Given the description of an element on the screen output the (x, y) to click on. 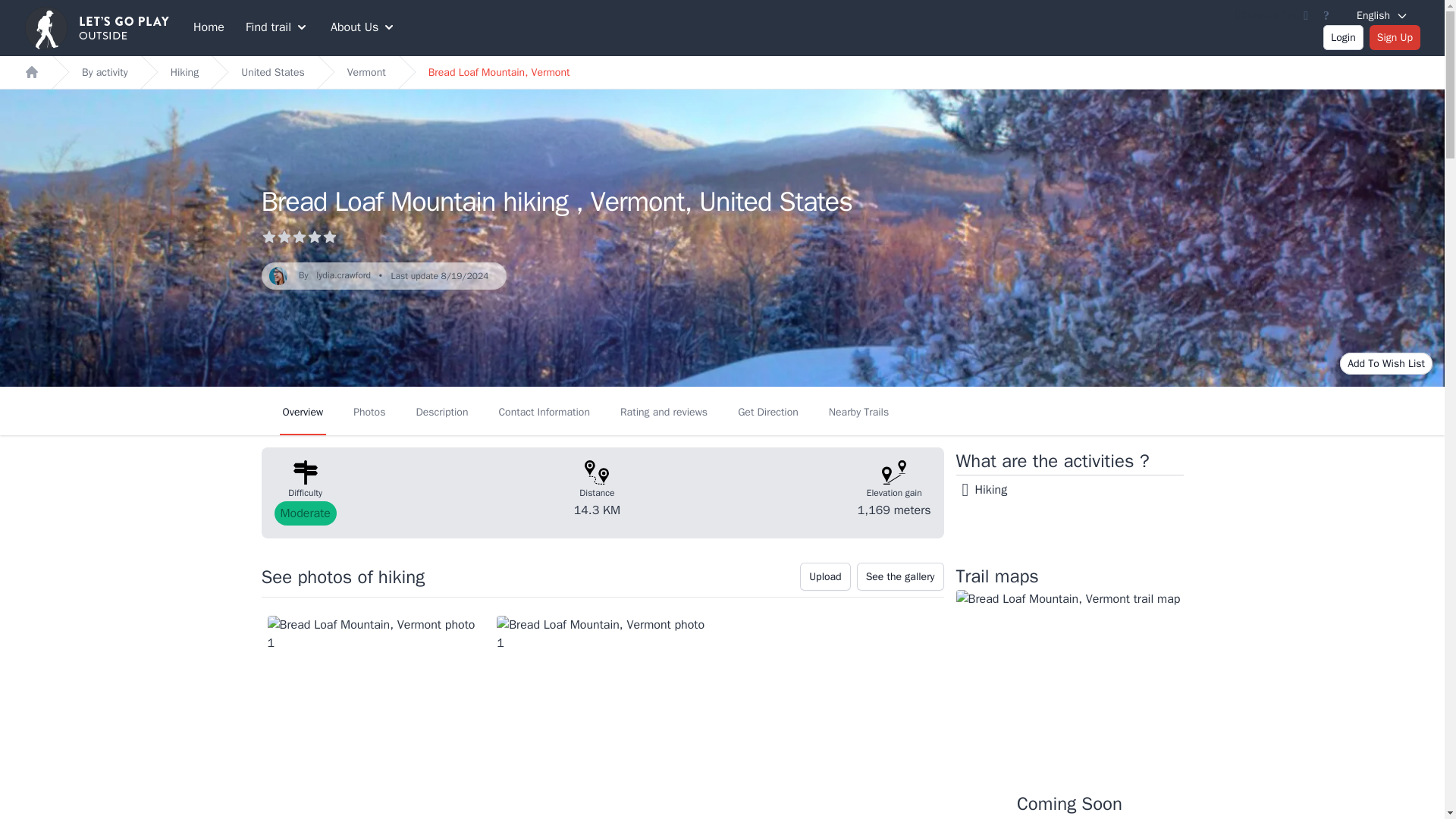
Hiking (184, 71)
lydia.crawford (343, 275)
Guided Tour (1268, 14)
Rating and reviews (663, 410)
Find trail (277, 27)
Get Direction (768, 410)
Bread Loaf Mountain, Vermont (499, 71)
About Us (363, 27)
Sign Up (1395, 36)
Vermont (366, 71)
